Given the description of an element on the screen output the (x, y) to click on. 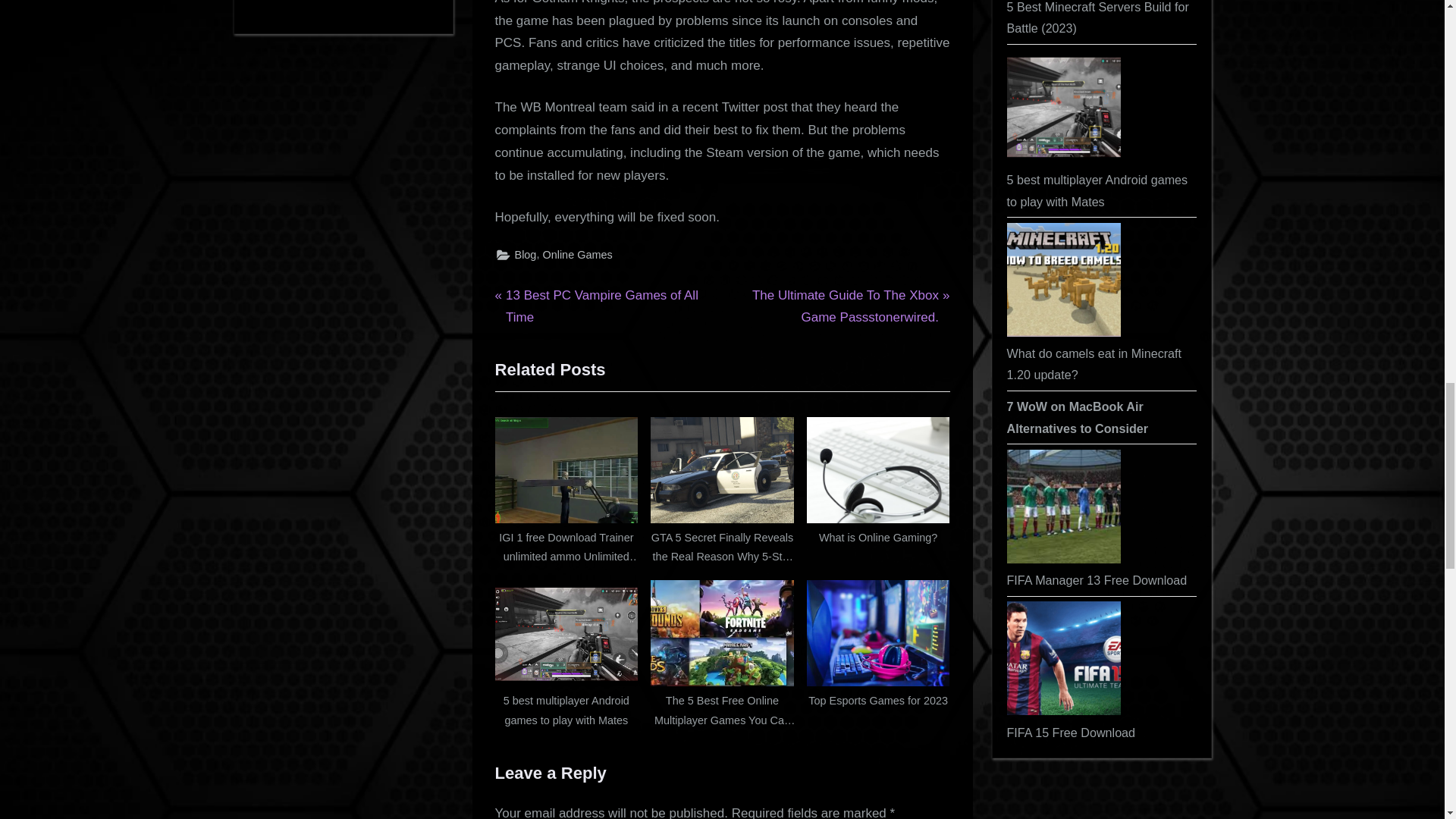
What is Online Gaming? (878, 488)
Blog (524, 254)
5 best multiplayer Android games to play with Mates (566, 651)
Top Esports Games for 2023 (606, 307)
Online Games (878, 651)
